Given the description of an element on the screen output the (x, y) to click on. 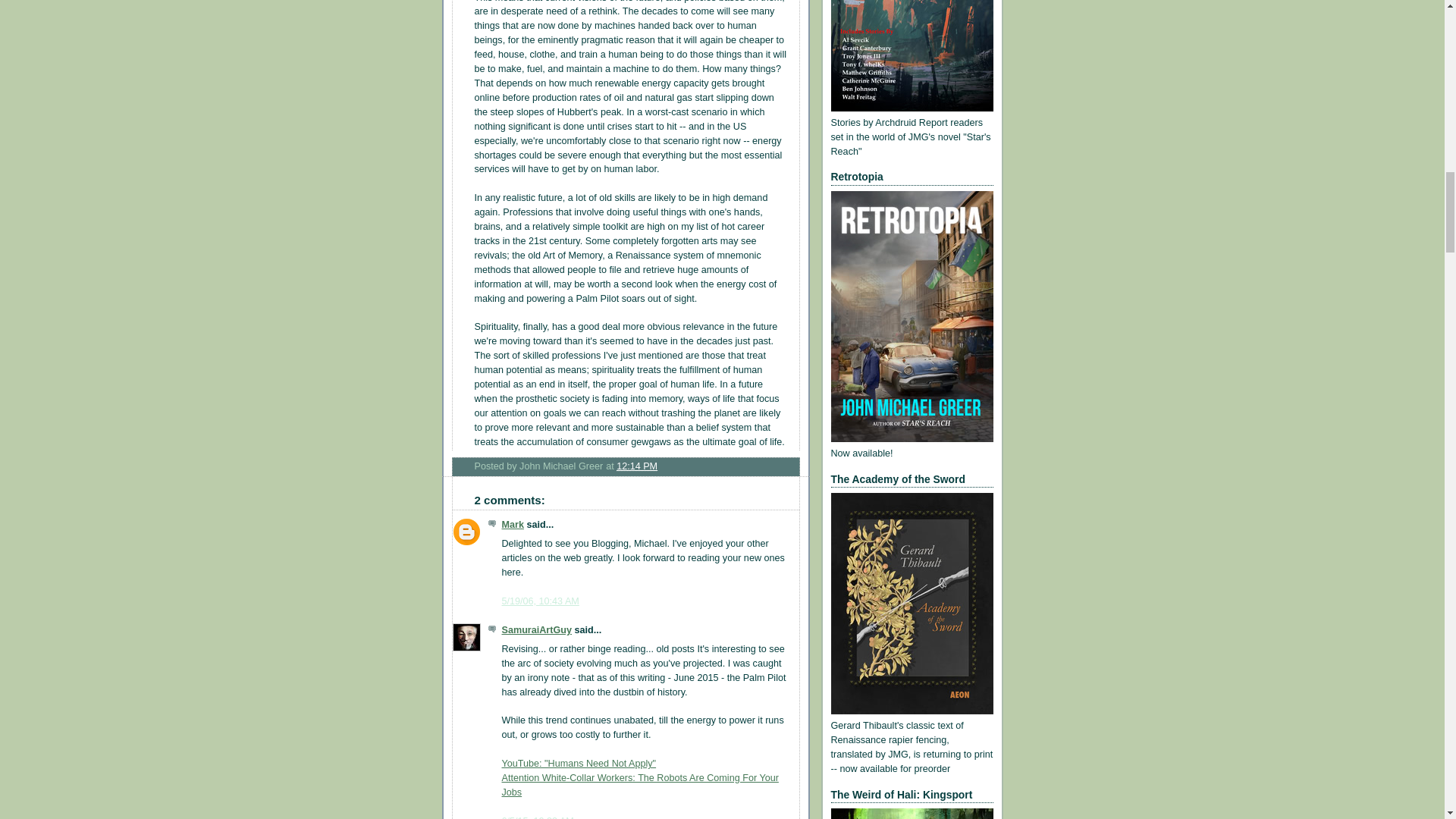
SamuraiArtGuy (537, 629)
comment permalink (540, 601)
YouTube: "Humans Need Not Apply" (579, 763)
Mark (513, 524)
permanent link (636, 466)
12:14 PM (636, 466)
comment permalink (537, 817)
